Given the description of an element on the screen output the (x, y) to click on. 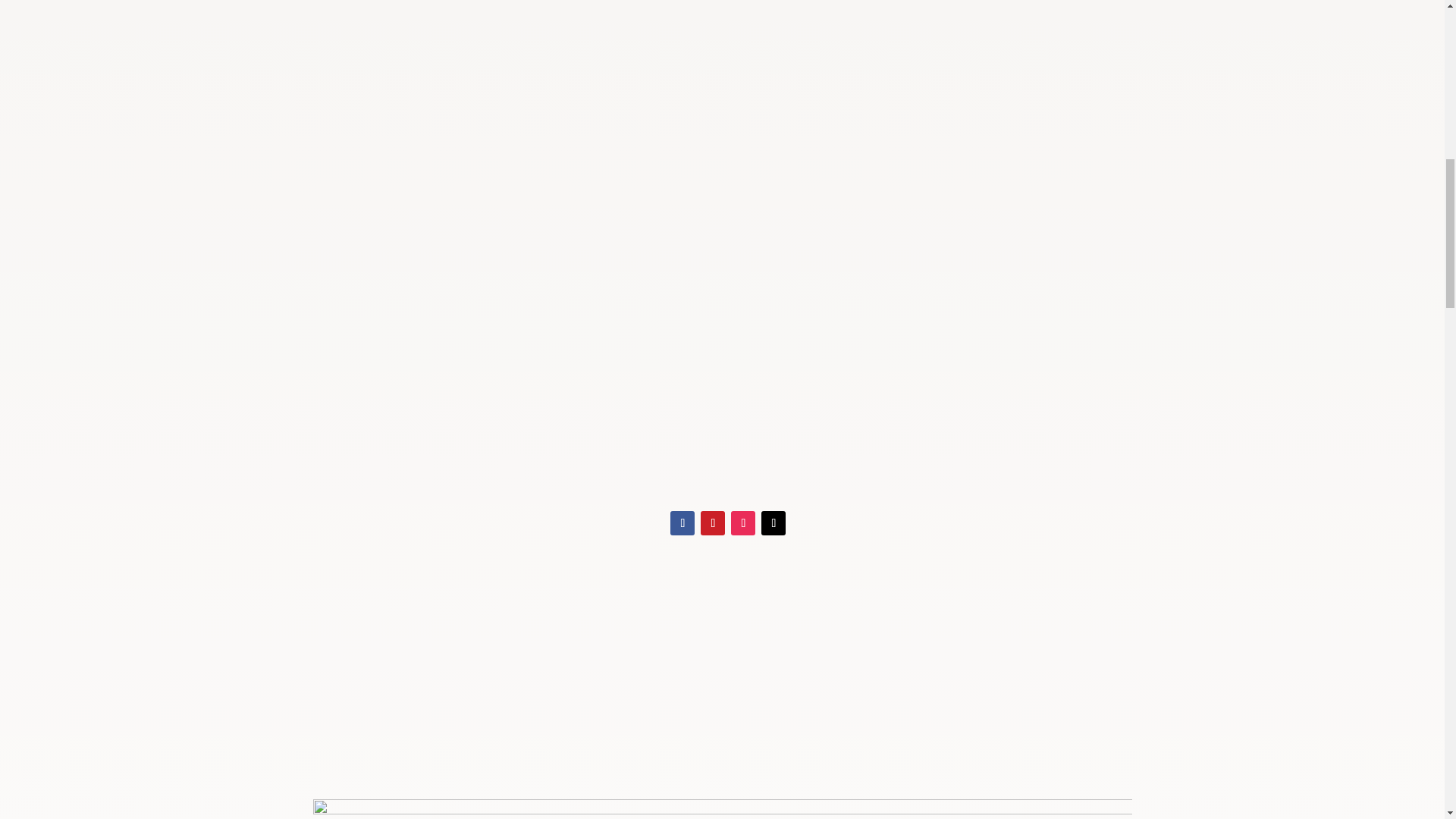
Follow on X (773, 523)
Follow on Facebook (681, 523)
Follow on Pinterest (712, 523)
Follow on Instagram (742, 523)
